Given the description of an element on the screen output the (x, y) to click on. 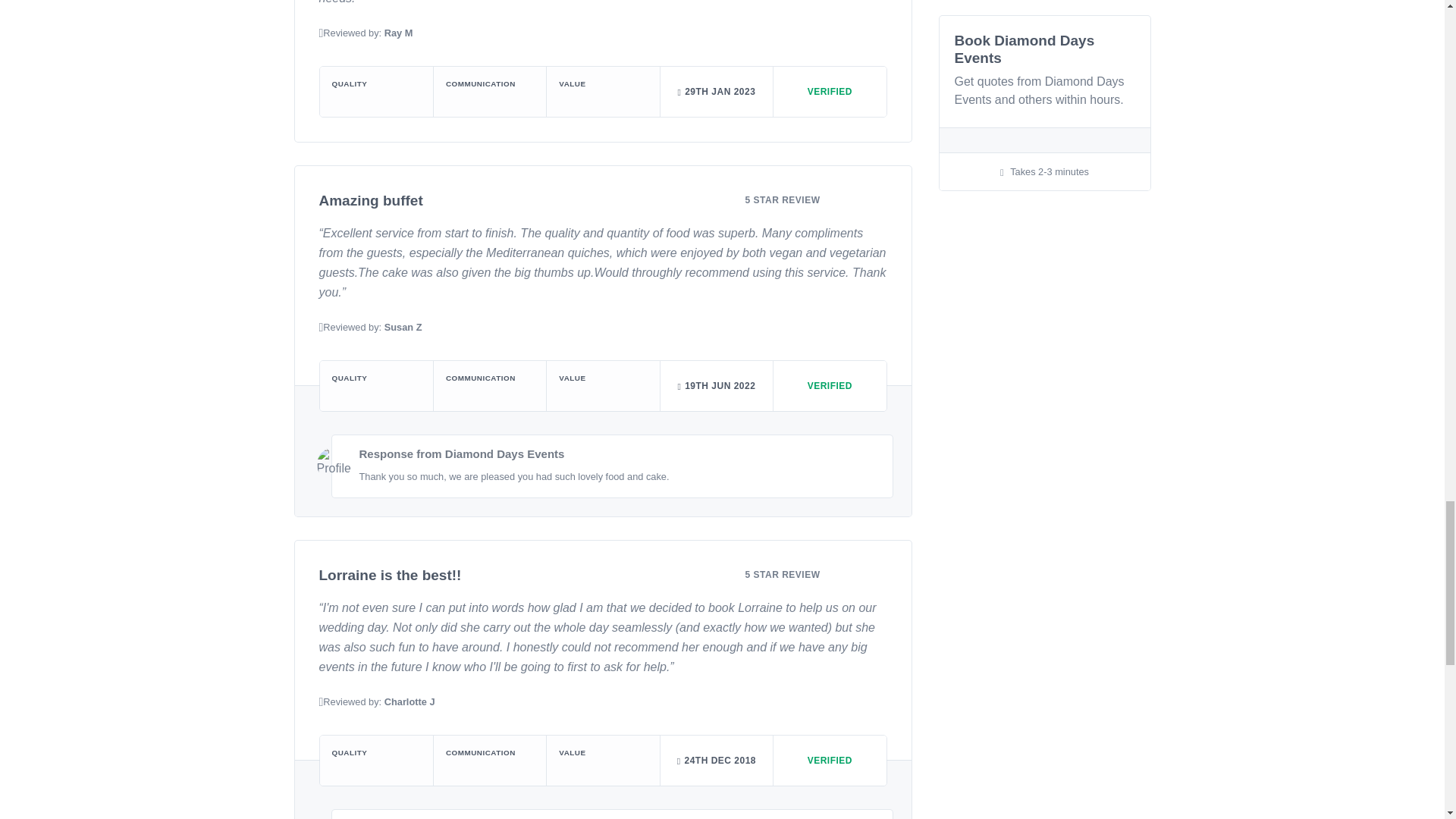
Profile Image (333, 464)
